Given the description of an element on the screen output the (x, y) to click on. 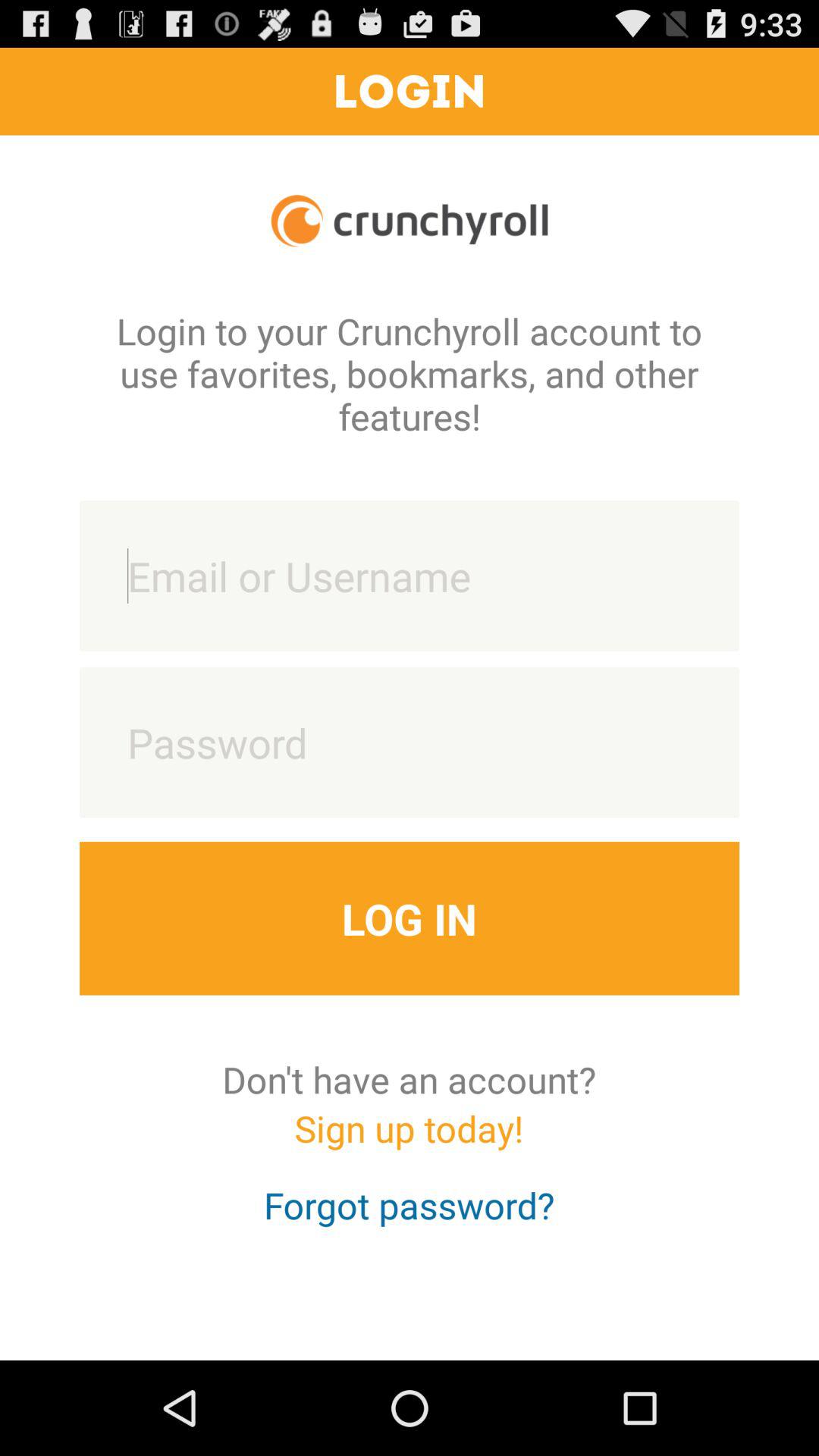
turn off the forgot password? app (408, 1218)
